Given the description of an element on the screen output the (x, y) to click on. 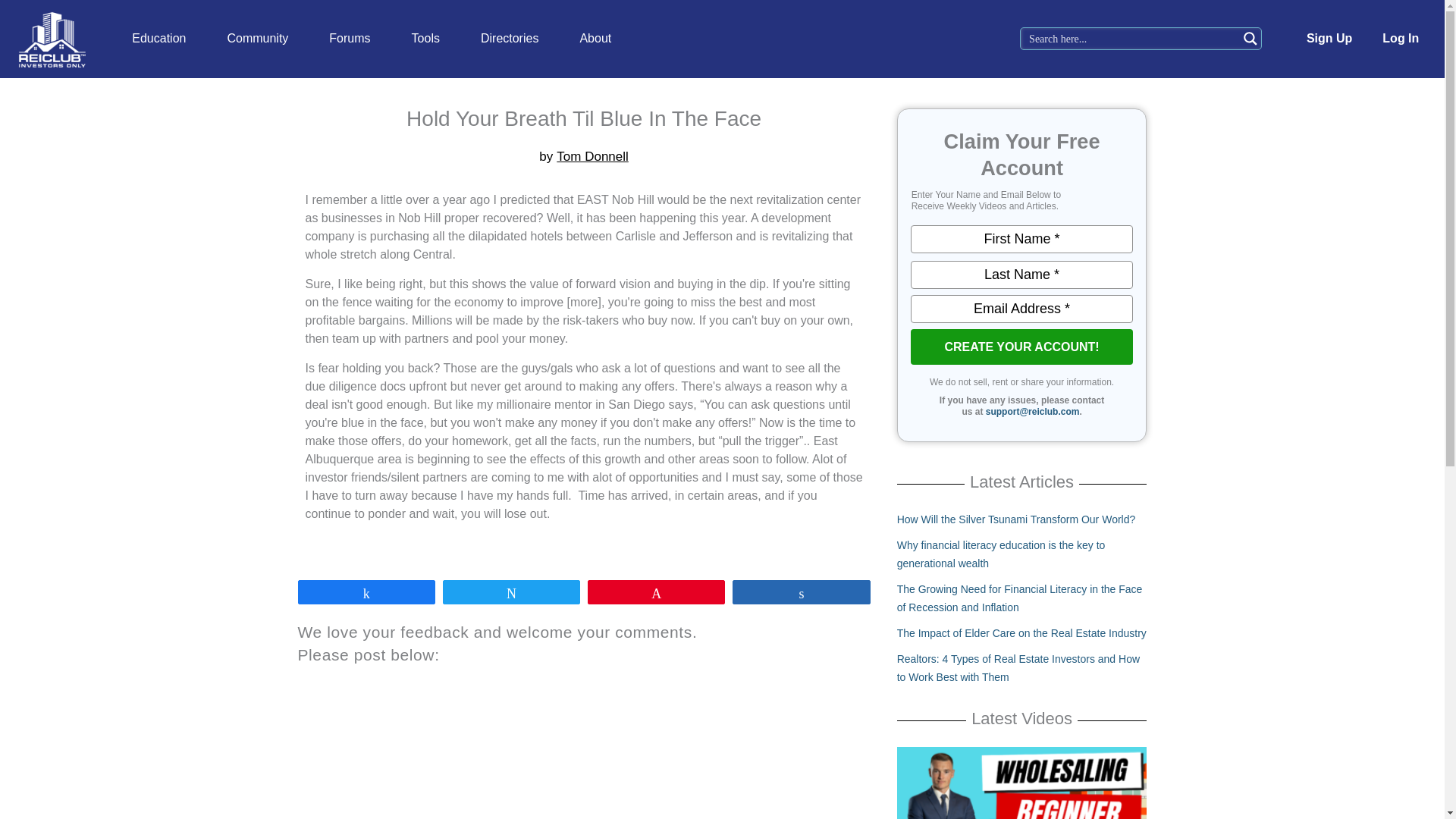
Community (257, 38)
Tools (425, 38)
Forums (349, 38)
Education (159, 38)
Directories (509, 38)
Create Your Account! (1021, 347)
